Given the description of an element on the screen output the (x, y) to click on. 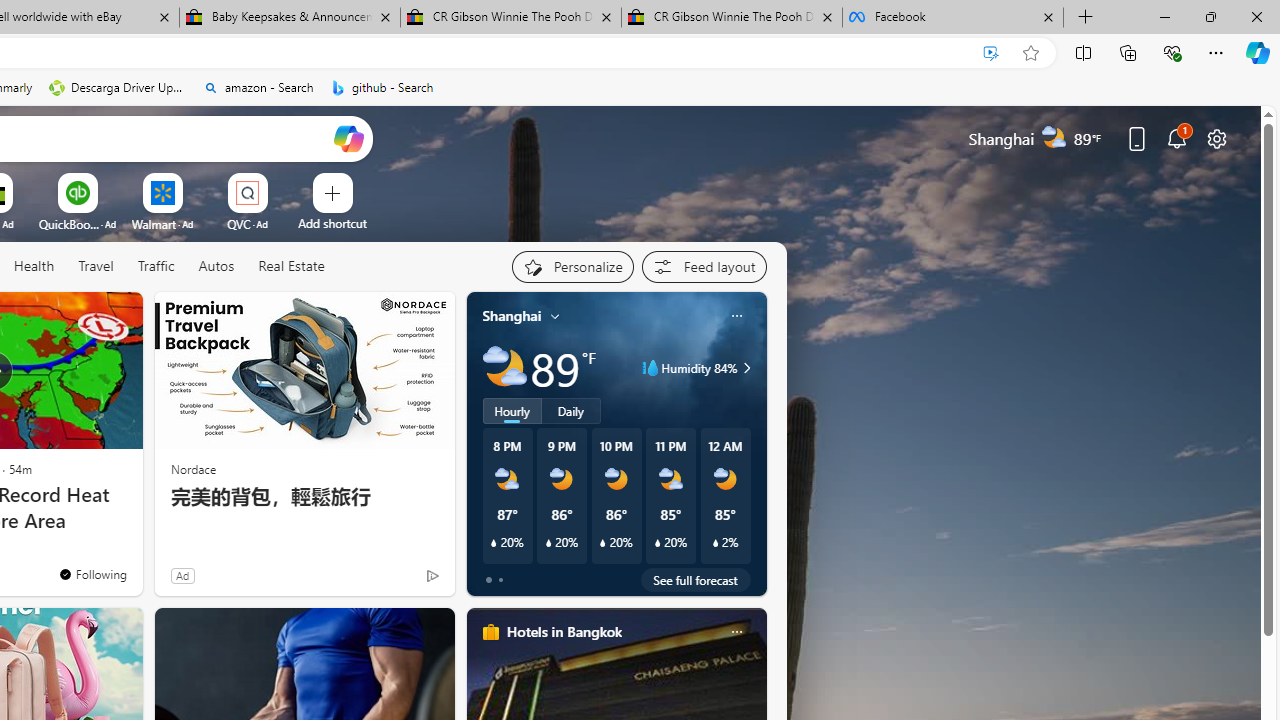
Copilot (Ctrl+Shift+.) (1258, 52)
tab-0 (488, 579)
